Given the description of an element on the screen output the (x, y) to click on. 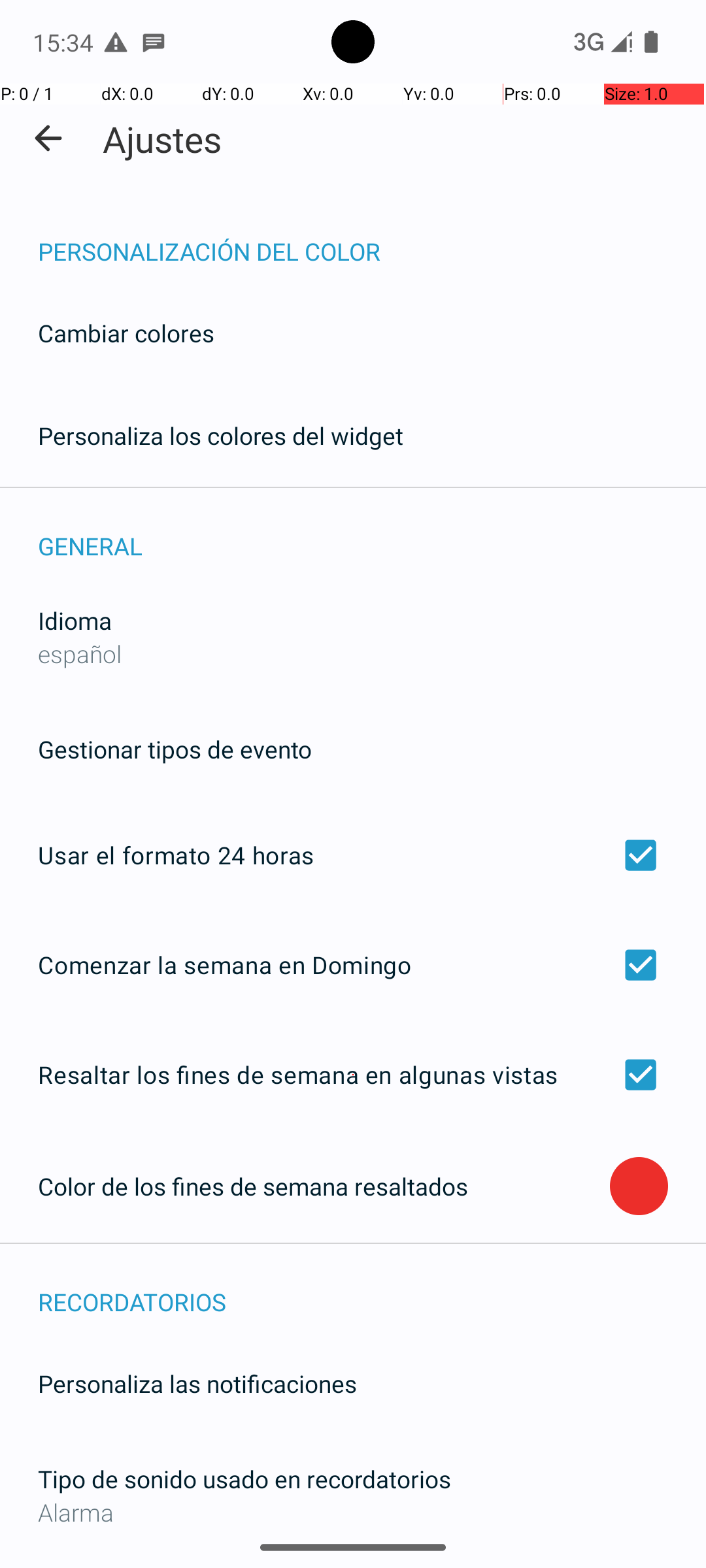
Color de los fines de semana resaltados Element type: android.widget.TextView (323, 1186)
Alarma Element type: android.widget.TextView (352, 1511)
